Given the description of an element on the screen output the (x, y) to click on. 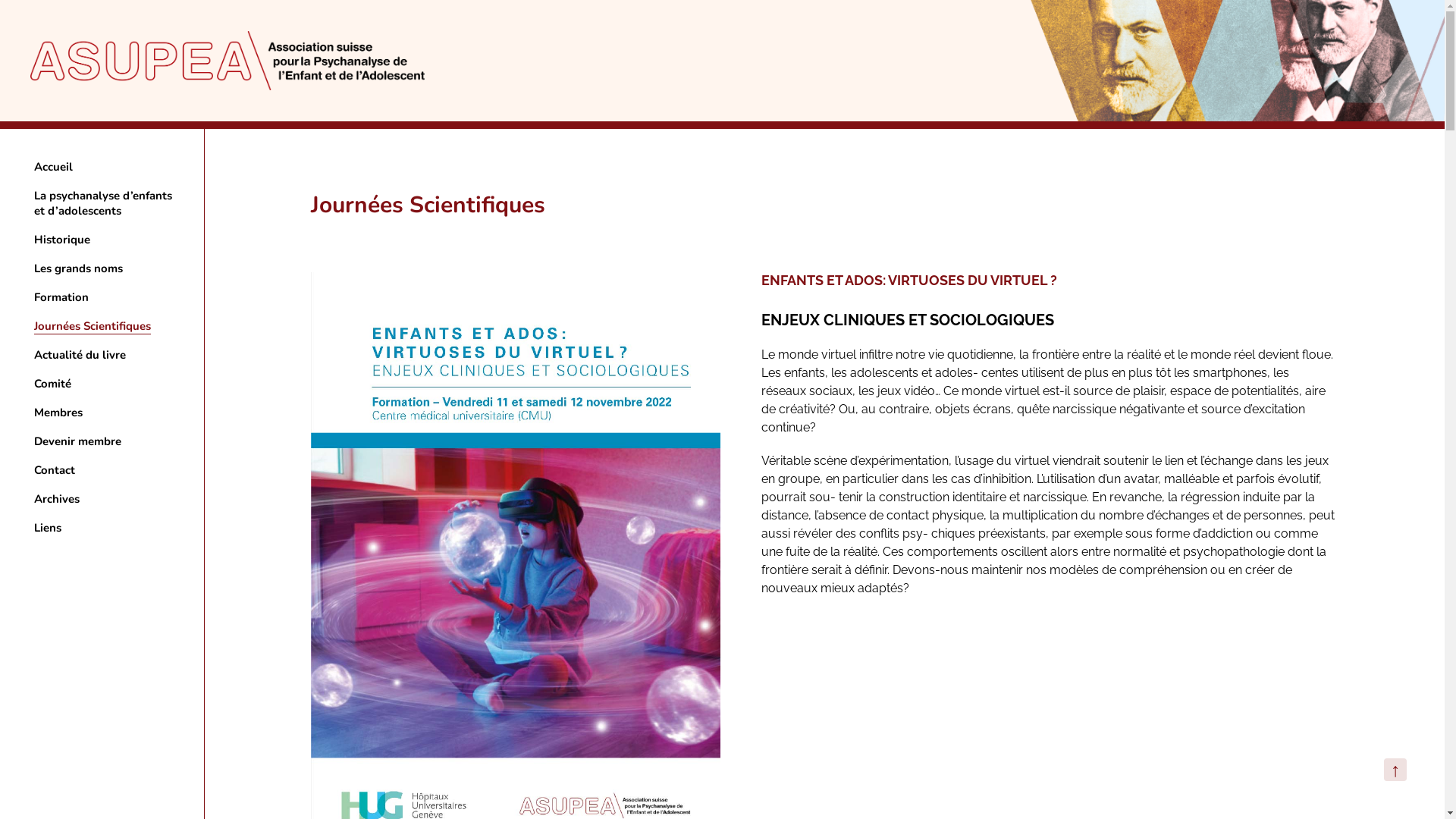
Archives Element type: text (56, 498)
Historique Element type: text (62, 239)
Contact Element type: text (54, 469)
Liens Element type: text (47, 527)
Les grands noms Element type: text (78, 268)
Membres Element type: text (58, 412)
Devenir membre Element type: text (77, 440)
Accueil Element type: text (53, 166)
Formation Element type: text (61, 296)
